Given the description of an element on the screen output the (x, y) to click on. 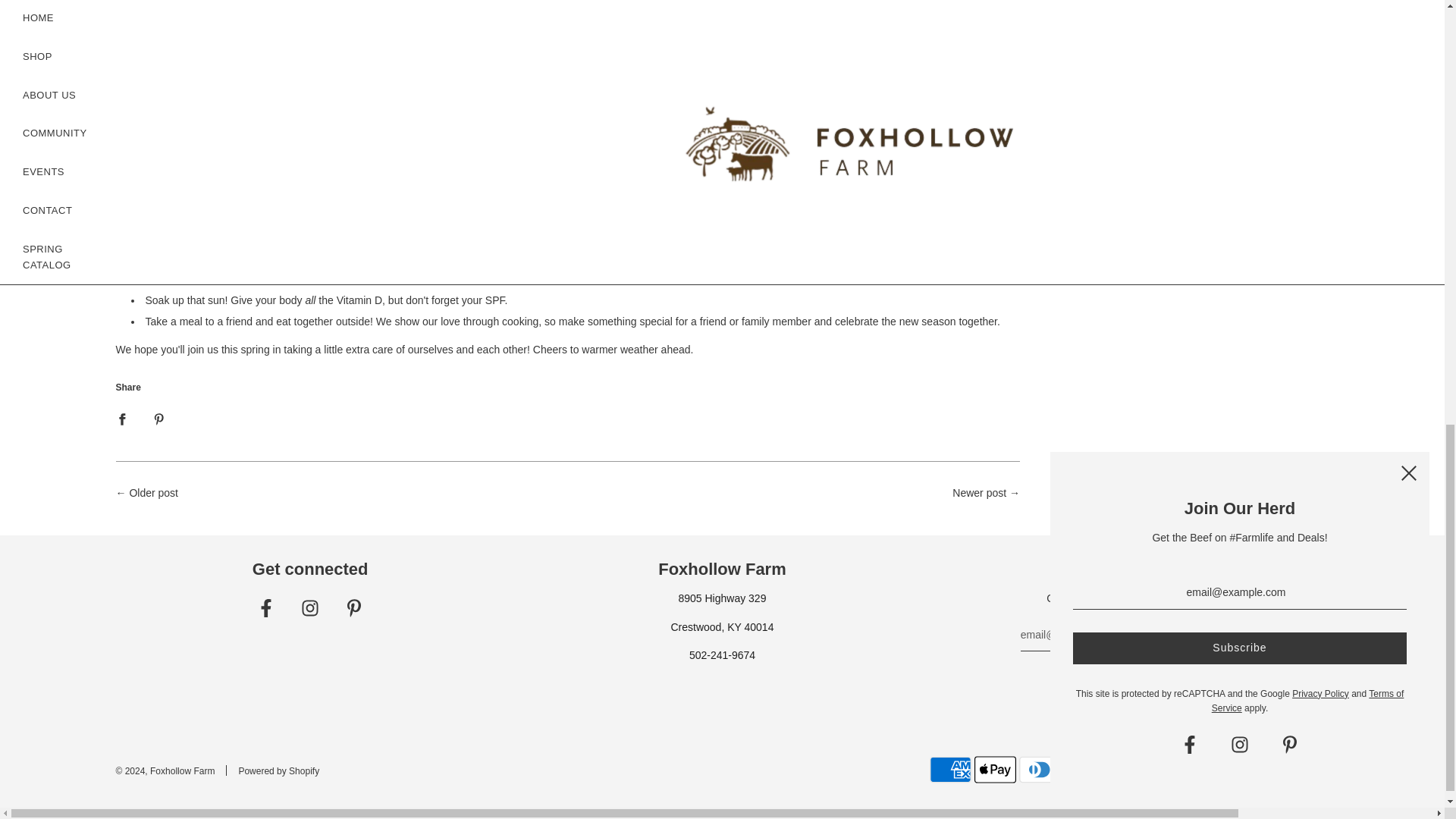
Subscribe (1134, 677)
